Given the description of an element on the screen output the (x, y) to click on. 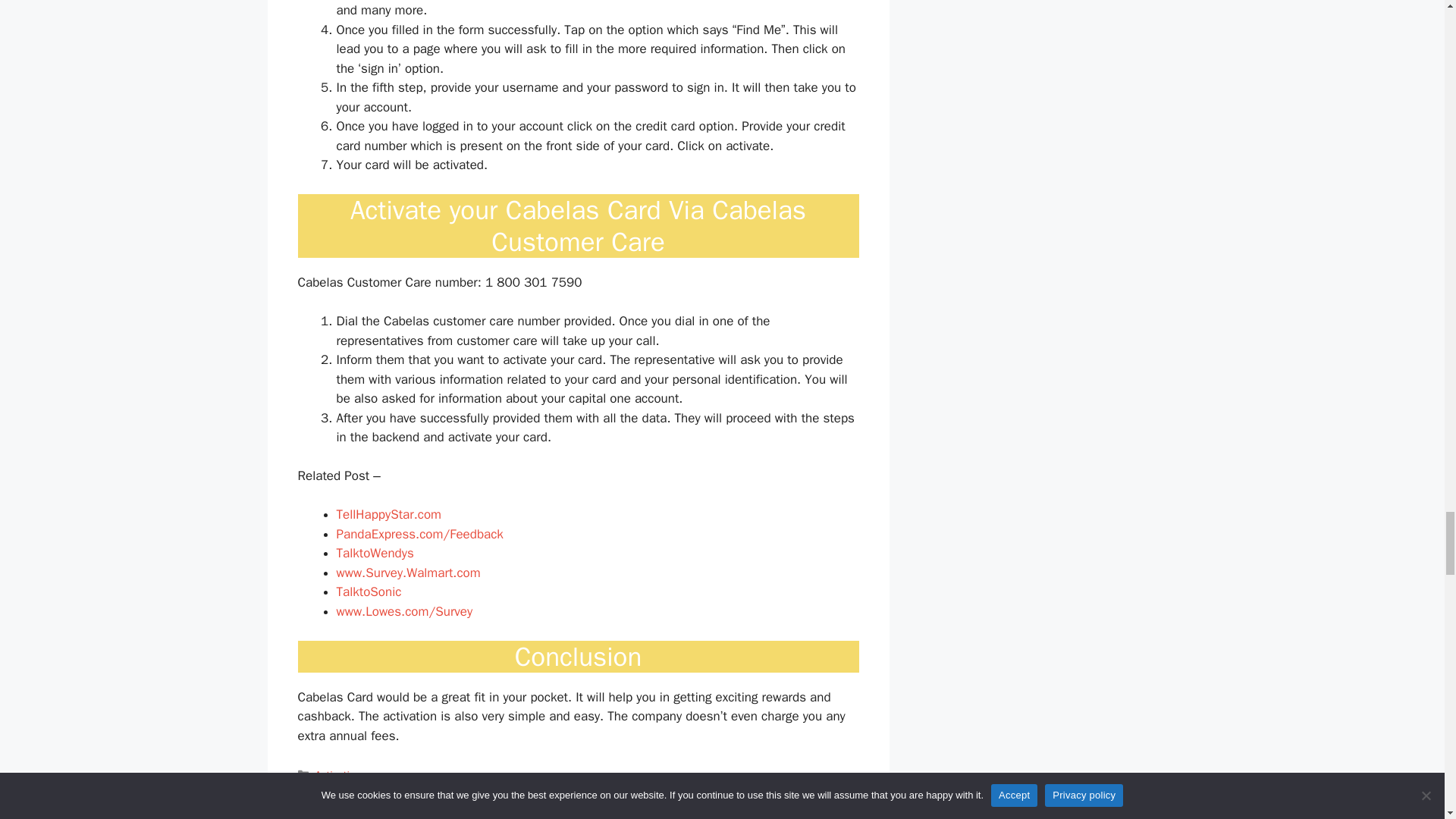
Activation (338, 775)
www.Survey.Walmart.com (408, 572)
TalktoWendys (374, 553)
Leave a comment (357, 791)
TalktoSonic (368, 591)
TellHappyStar.com (389, 514)
